Given the description of an element on the screen output the (x, y) to click on. 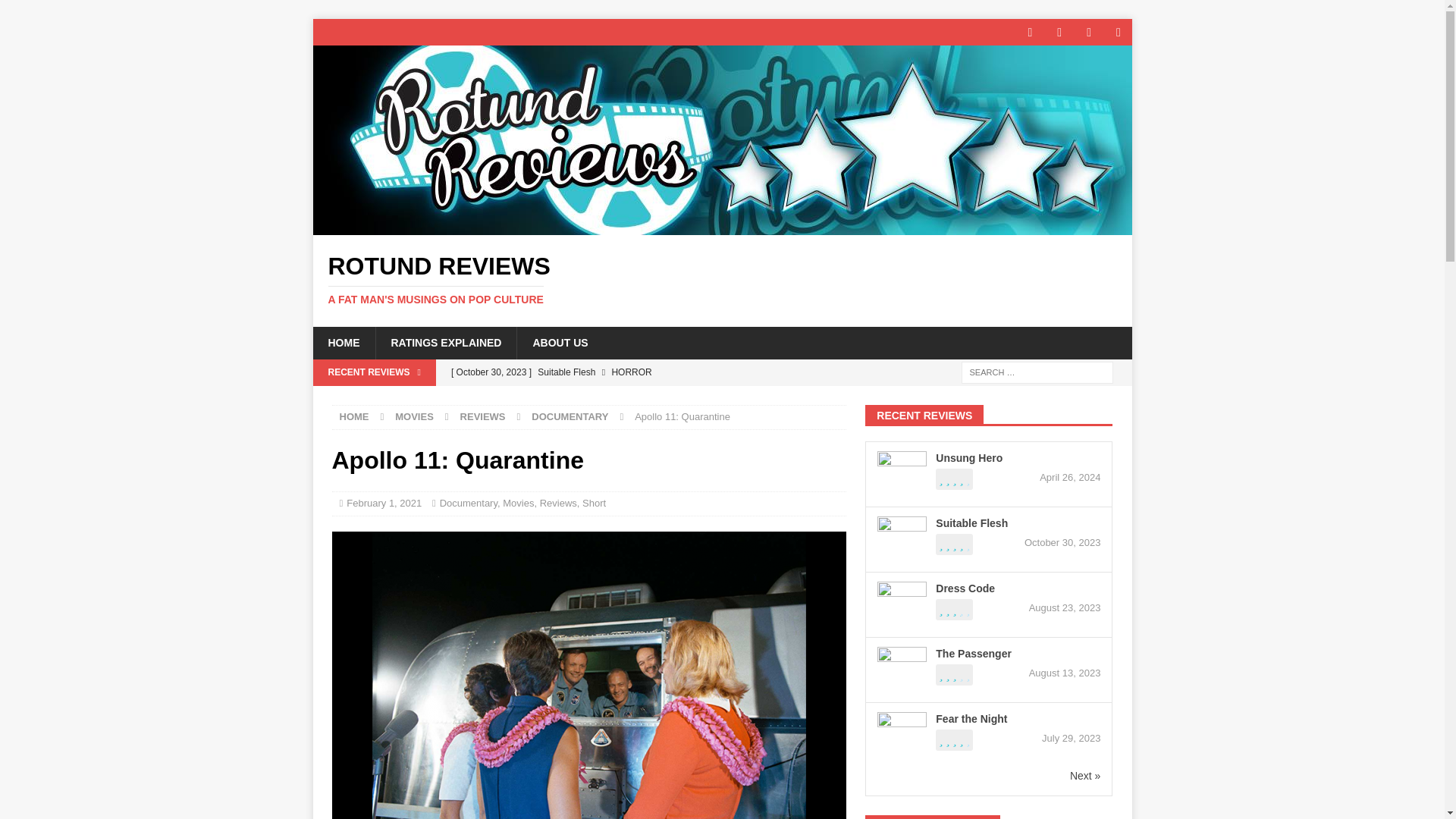
REVIEWS (482, 416)
February 1, 2021 (384, 502)
Search (56, 11)
HOME (354, 416)
HOME (343, 342)
Follow us on Facebook (1029, 31)
Follow us on Twitter (1059, 31)
Dress Code (721, 279)
Documentary (644, 397)
DOCUMENTARY (468, 502)
Reviews (569, 416)
ABOUT US (558, 502)
Suitable Flesh (559, 342)
MOVIES (644, 371)
